Given the description of an element on the screen output the (x, y) to click on. 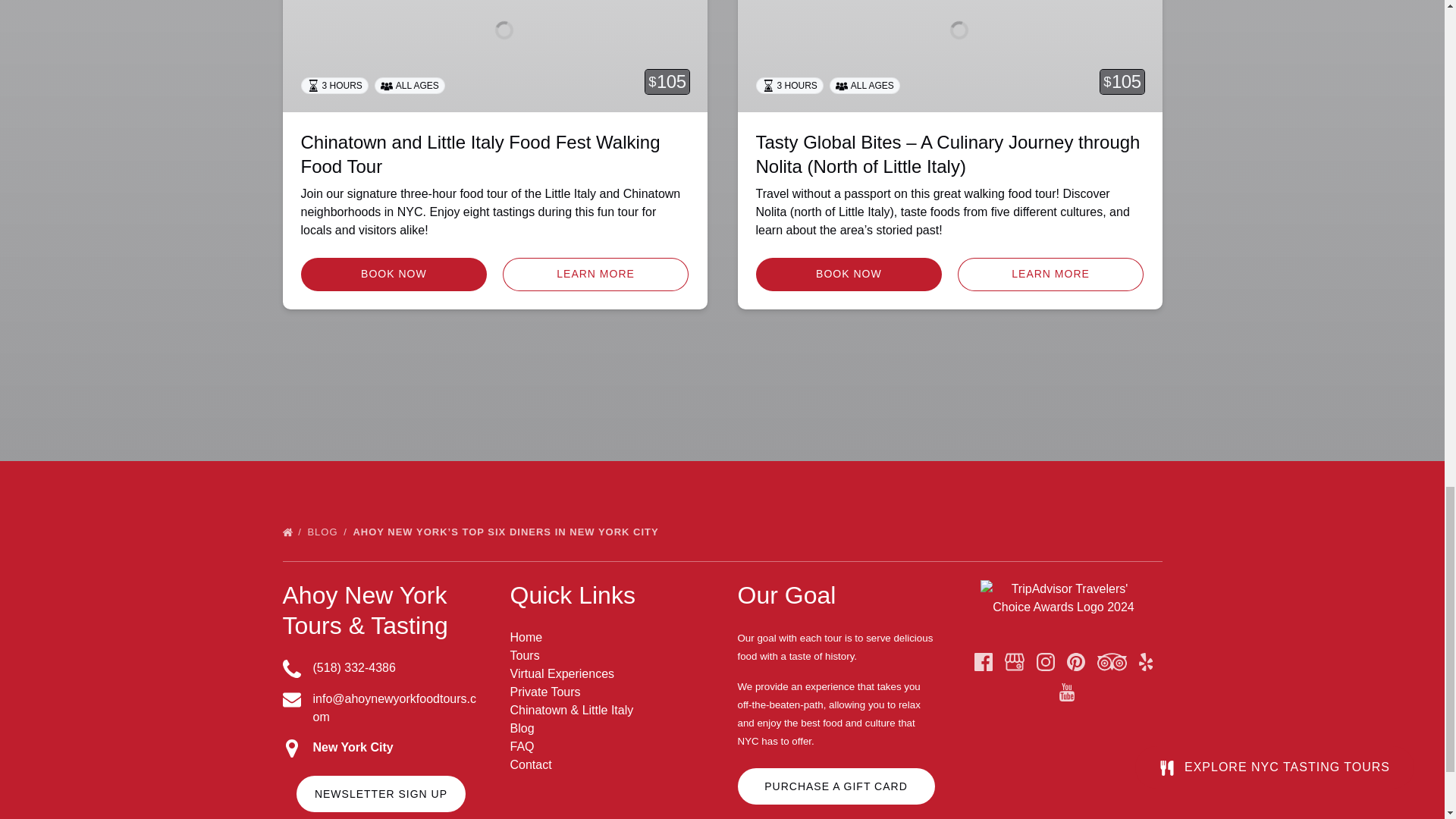
Map Marker (290, 748)
Phone (290, 669)
Envelope (290, 700)
